Given the description of an element on the screen output the (x, y) to click on. 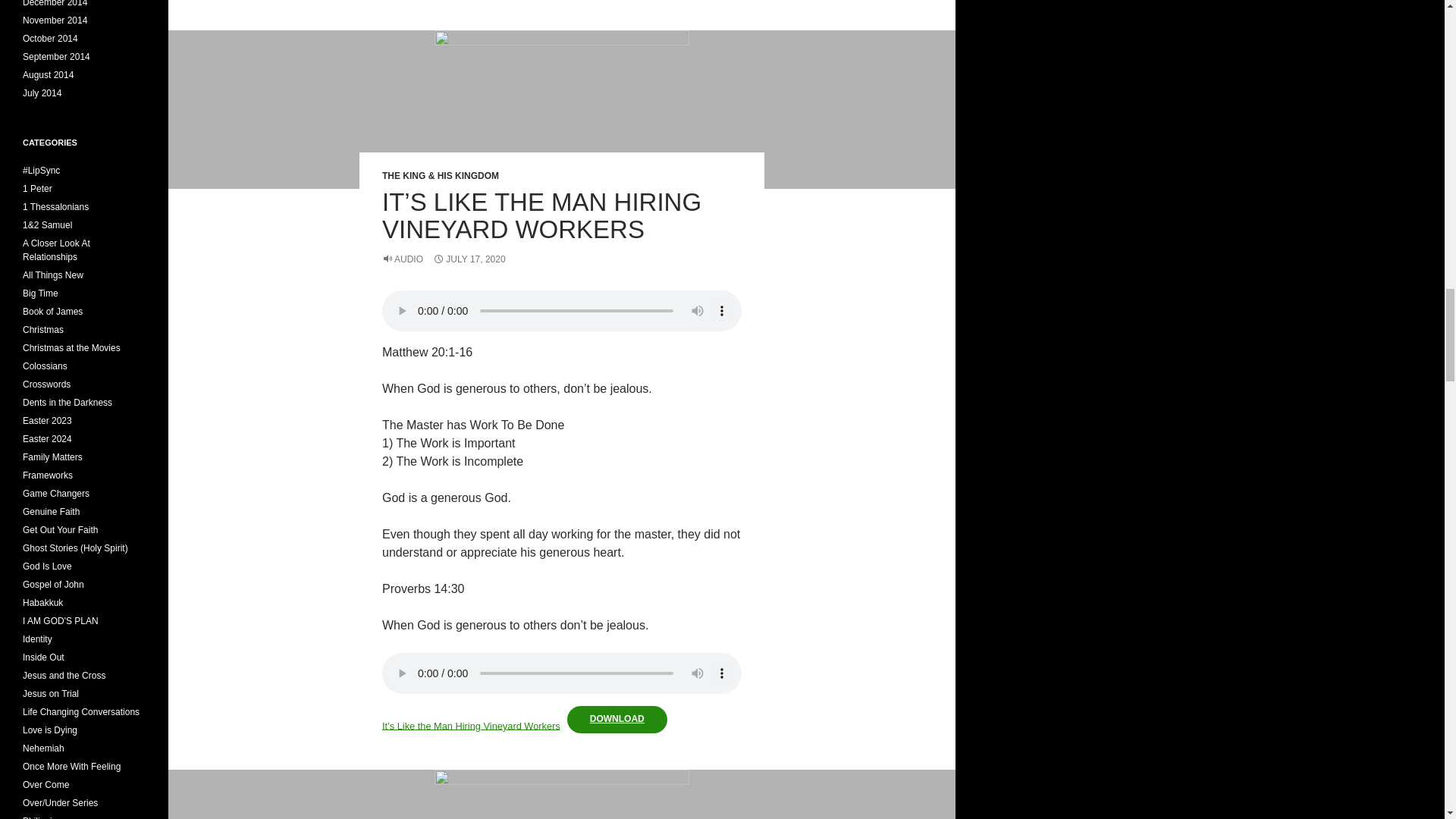
AUDIO (402, 258)
DOWNLOAD (616, 719)
JULY 17, 2020 (468, 258)
